Given the description of an element on the screen output the (x, y) to click on. 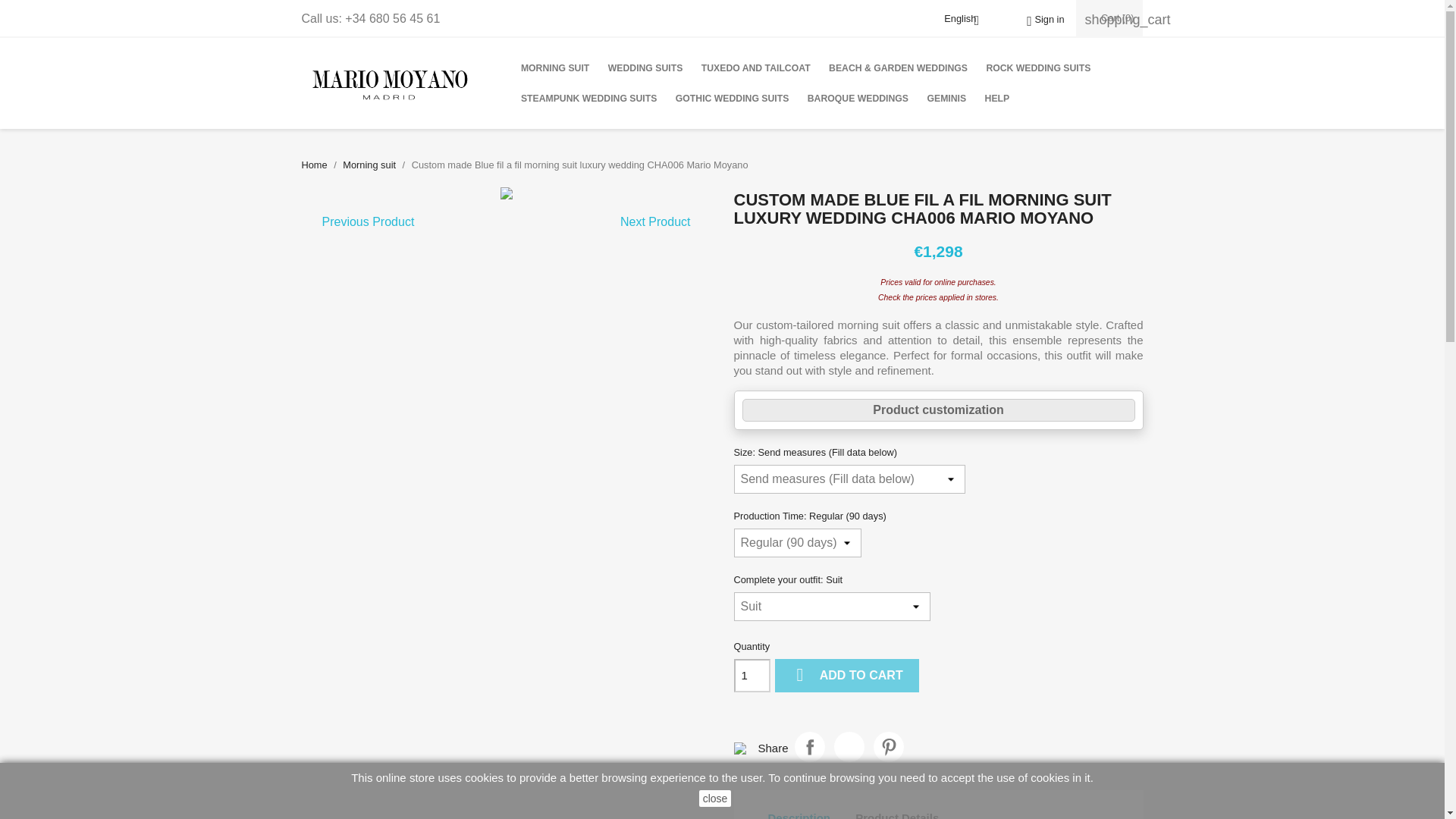
Previous Product (368, 222)
Product Details (897, 812)
MORNING SUIT (554, 68)
ROCK WEDDING SUITS (1037, 68)
Tweet (849, 747)
Next Product (655, 222)
BAROQUE WEDDINGS (857, 98)
Description (800, 812)
1 (751, 675)
STEAMPUNK WEDDING SUITS (588, 98)
GOTHIC WEDDING SUITS (732, 98)
Pinterest (888, 747)
Home (314, 164)
Pinterest (888, 747)
